Given the description of an element on the screen output the (x, y) to click on. 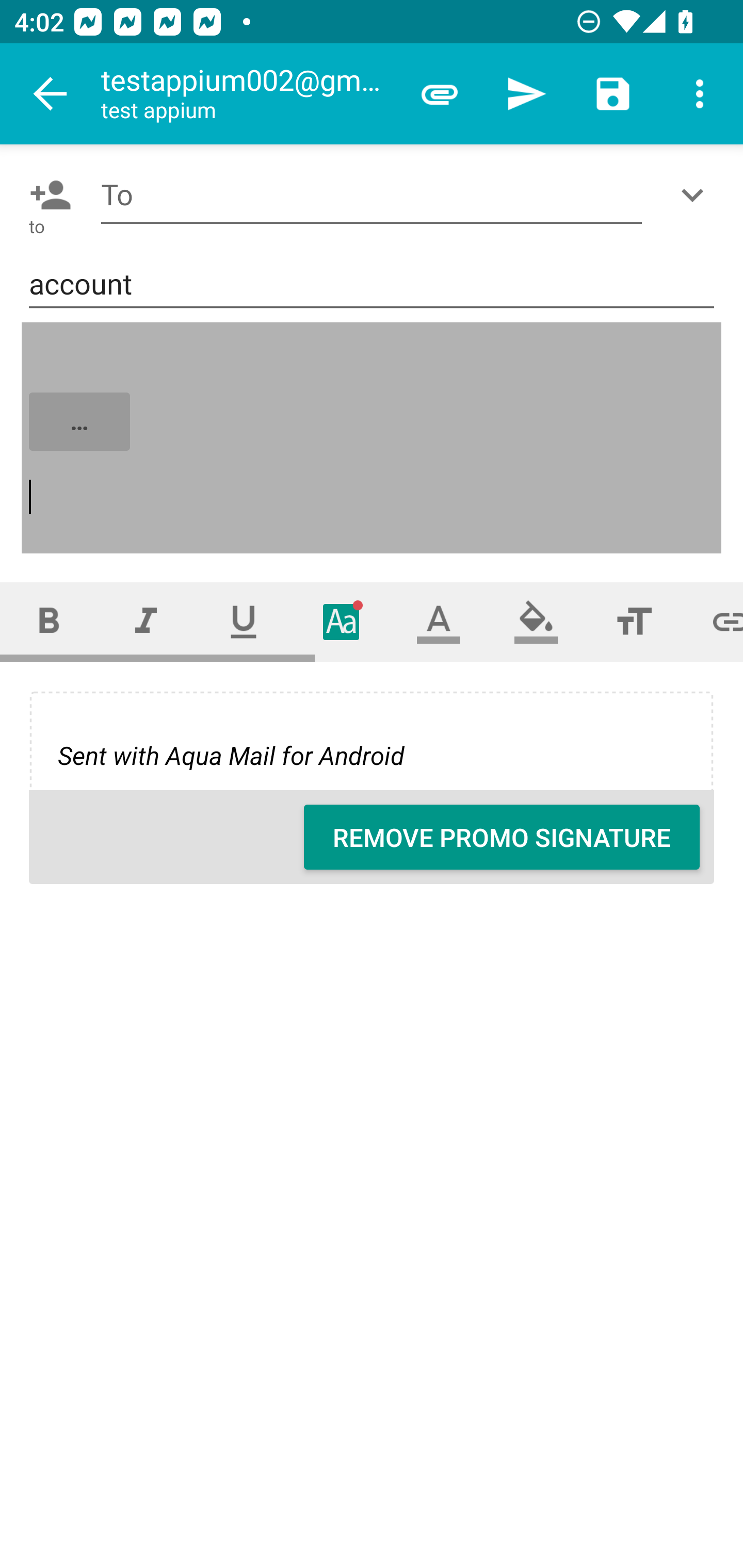
Navigate up (50, 93)
testappium002@gmail.com test appium (248, 93)
Attach (439, 93)
Send (525, 93)
Save (612, 93)
More options (699, 93)
Pick contact: To (46, 195)
Show/Add CC/BCC (696, 195)
To (371, 195)
account (371, 284)

…
 (372, 438)
Bold (48, 621)
Italic (145, 621)
Underline (243, 621)
Typeface (font) (341, 621)
Text color (438, 621)
Fill color (536, 621)
Font size (633, 621)
REMOVE PROMO SIGNATURE (501, 837)
